Given the description of an element on the screen output the (x, y) to click on. 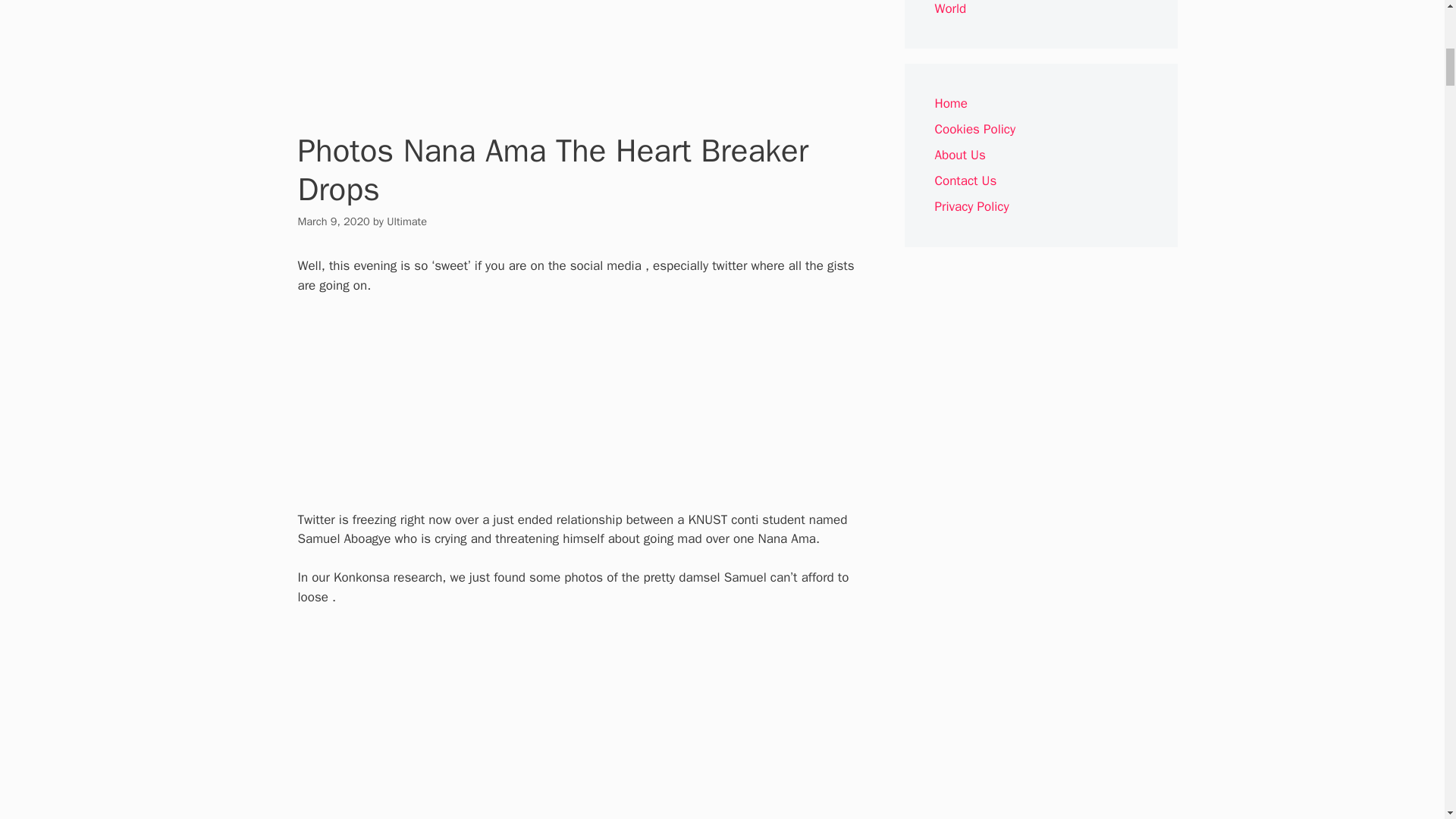
Ultimate (406, 221)
View all posts by Ultimate (406, 221)
